Given the description of an element on the screen output the (x, y) to click on. 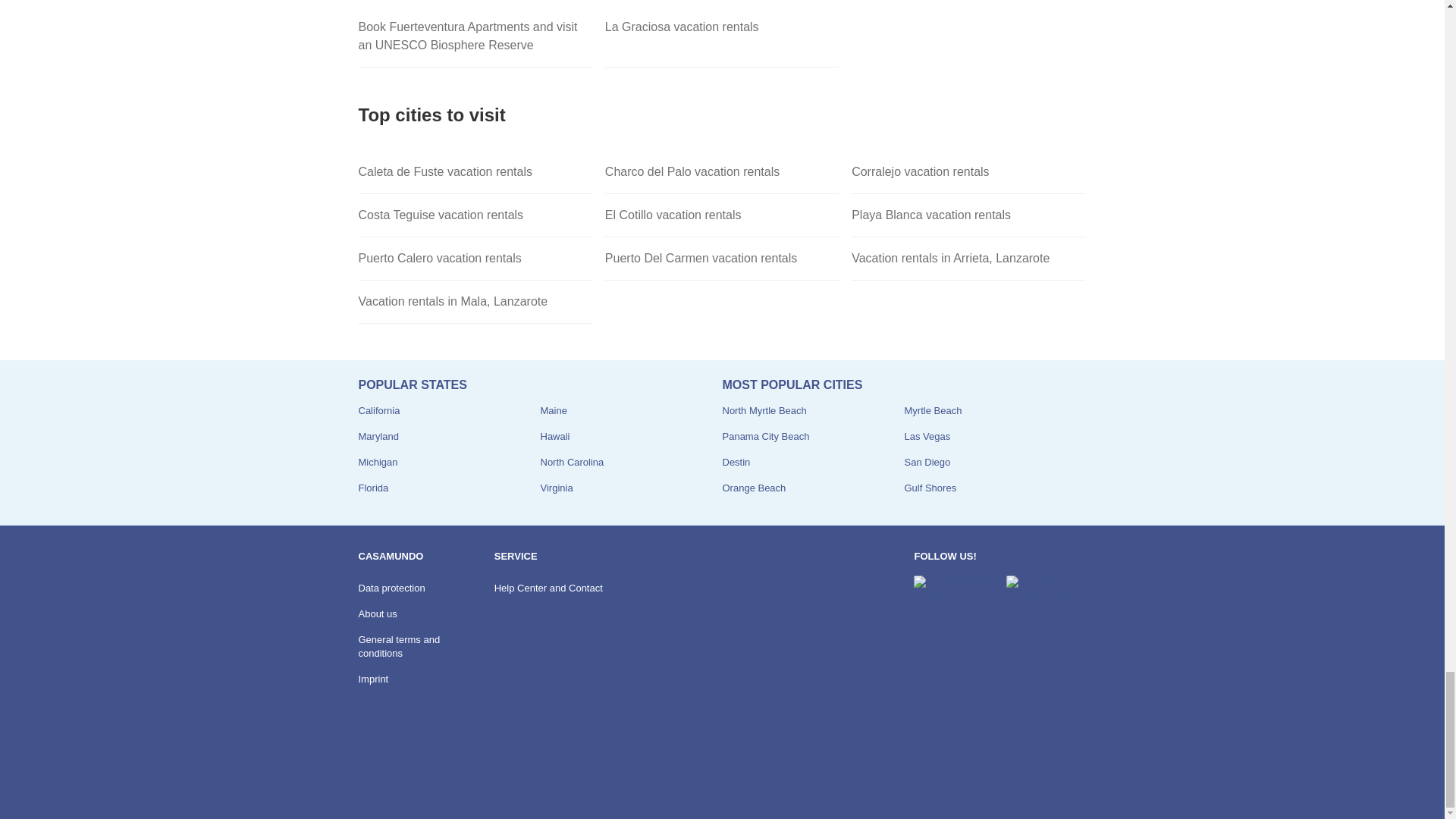
Puerto Calero vacation rentals (475, 258)
Costa Teguise vacation rentals (475, 215)
Corralejo vacation rentals (968, 172)
Caleta de Fuste vacation rentals (475, 172)
La Graciosa vacation rentals (722, 36)
Charco del Palo vacation rentals (722, 172)
Playa Blanca vacation rentals (968, 215)
El Cotillo vacation rentals (722, 215)
